Given the description of an element on the screen output the (x, y) to click on. 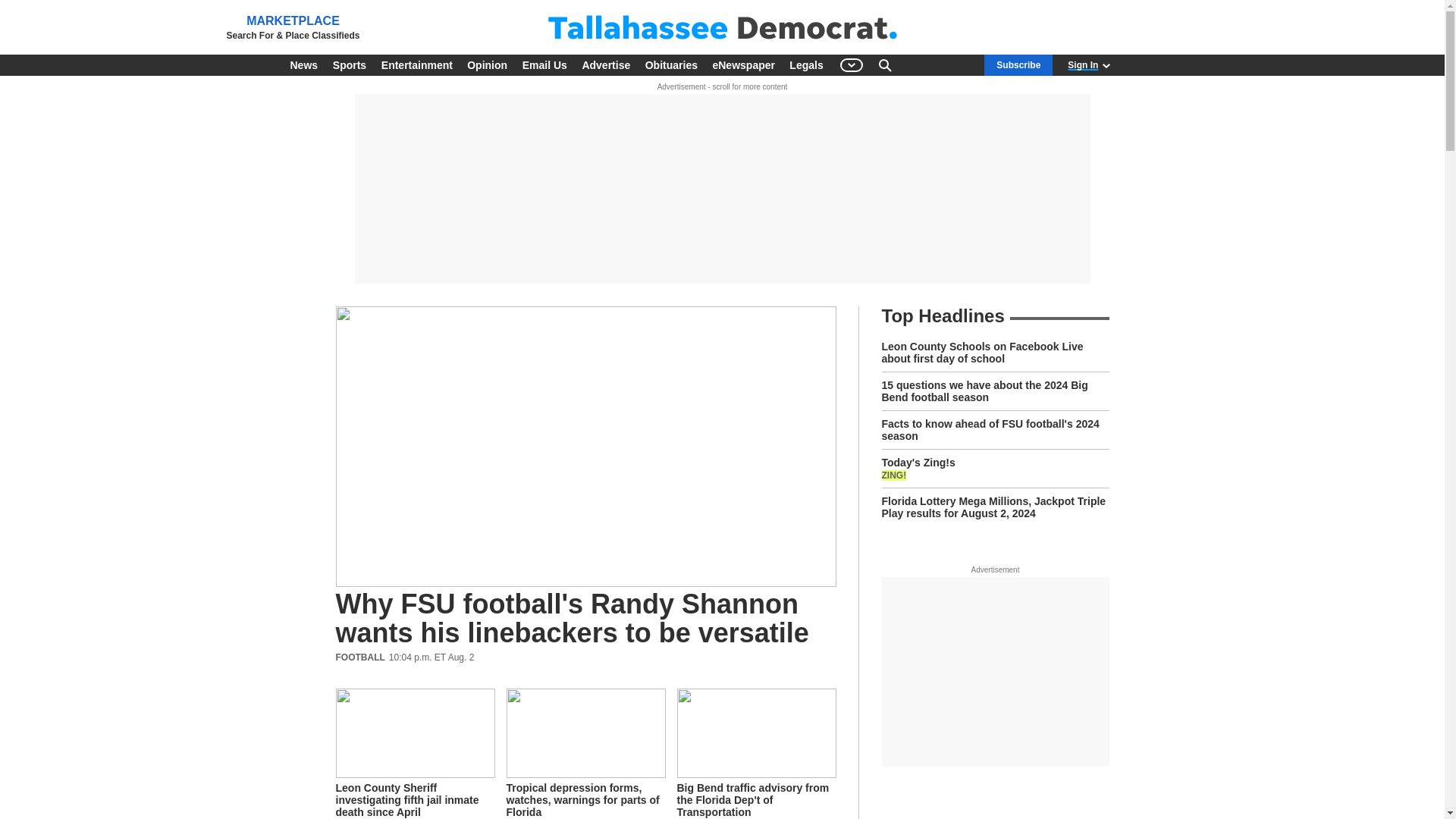
Sports (349, 65)
Email Us (545, 65)
Legals (805, 65)
News (303, 65)
Entertainment (417, 65)
Obituaries (670, 65)
eNewspaper (742, 65)
